Given the description of an element on the screen output the (x, y) to click on. 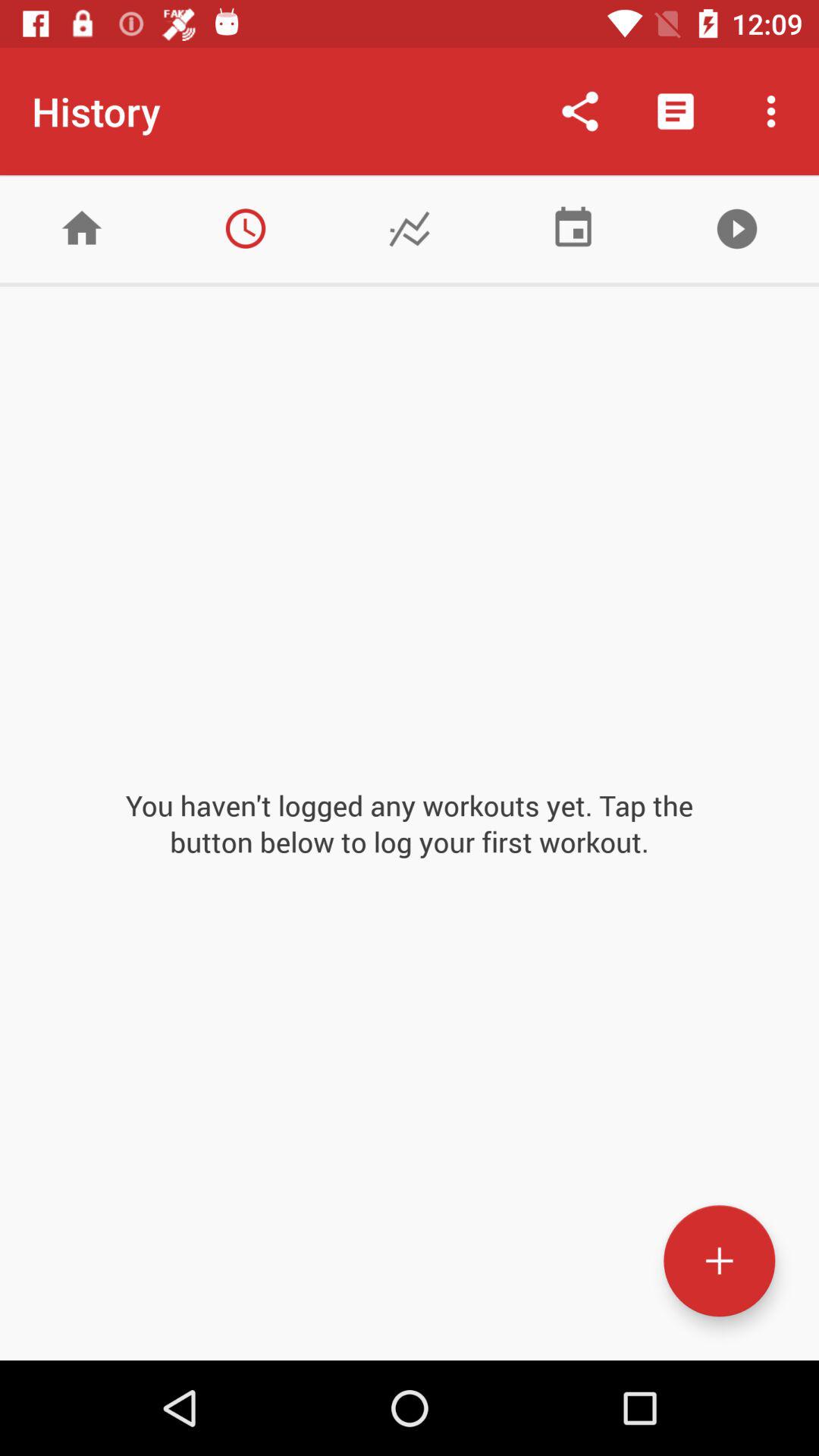
home tab (81, 228)
